Given the description of an element on the screen output the (x, y) to click on. 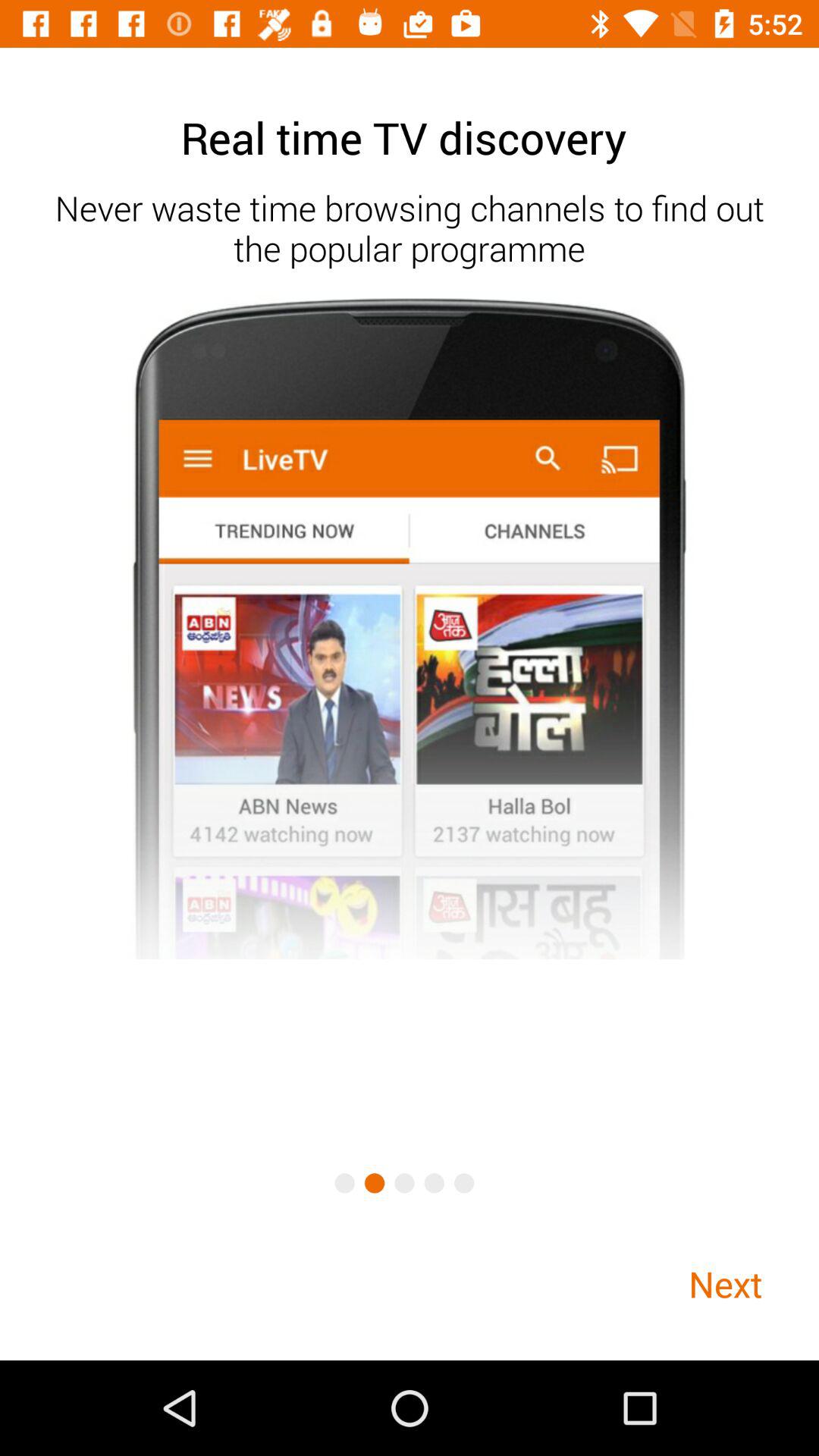
click next icon (725, 1283)
